Given the description of an element on the screen output the (x, y) to click on. 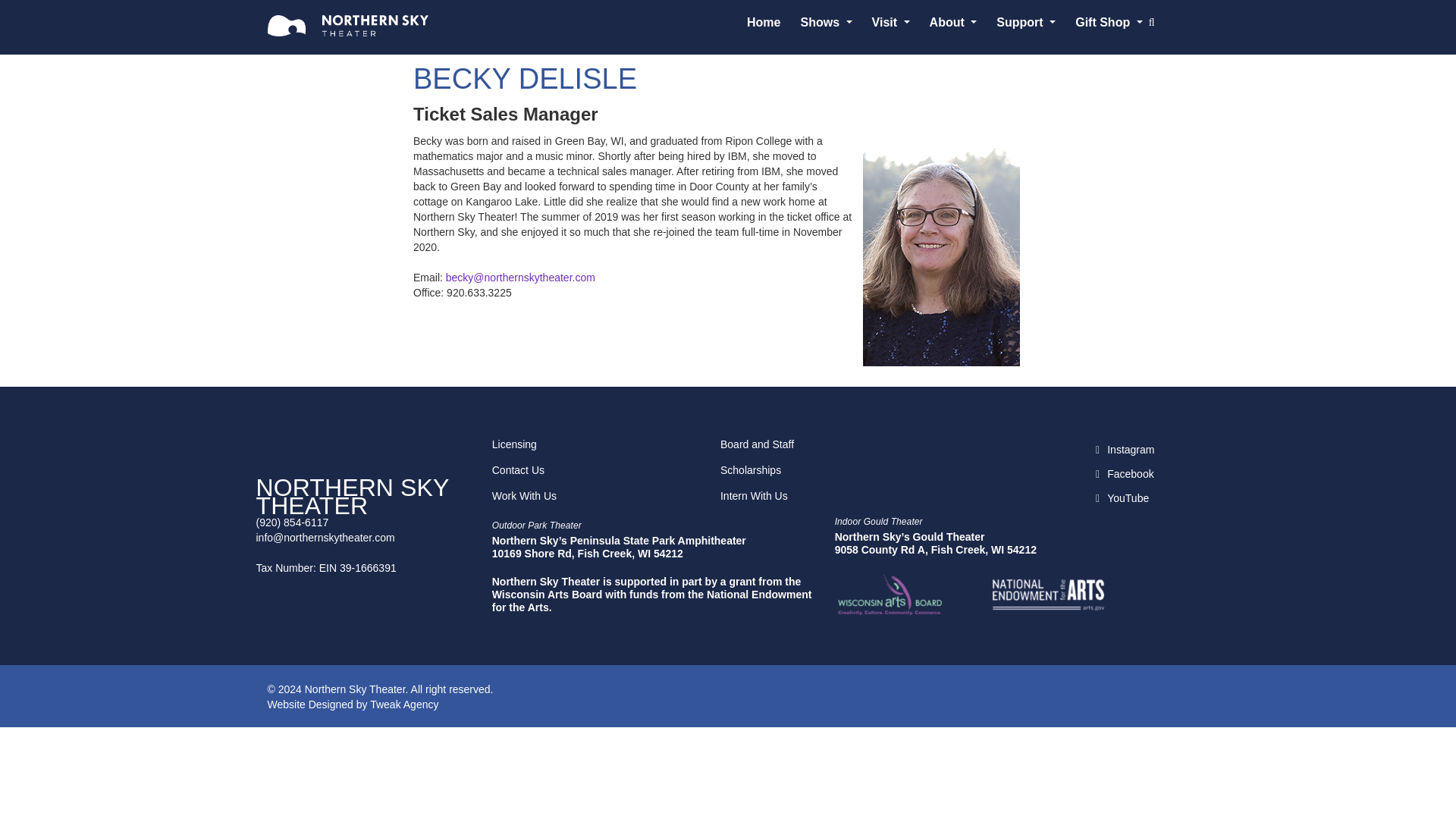
Visit (890, 26)
Shows (825, 26)
About (953, 26)
Support (1025, 26)
Home (763, 26)
Home (763, 26)
Gift Shop (1108, 26)
Visit (890, 26)
Shows (825, 26)
